Given the description of an element on the screen output the (x, y) to click on. 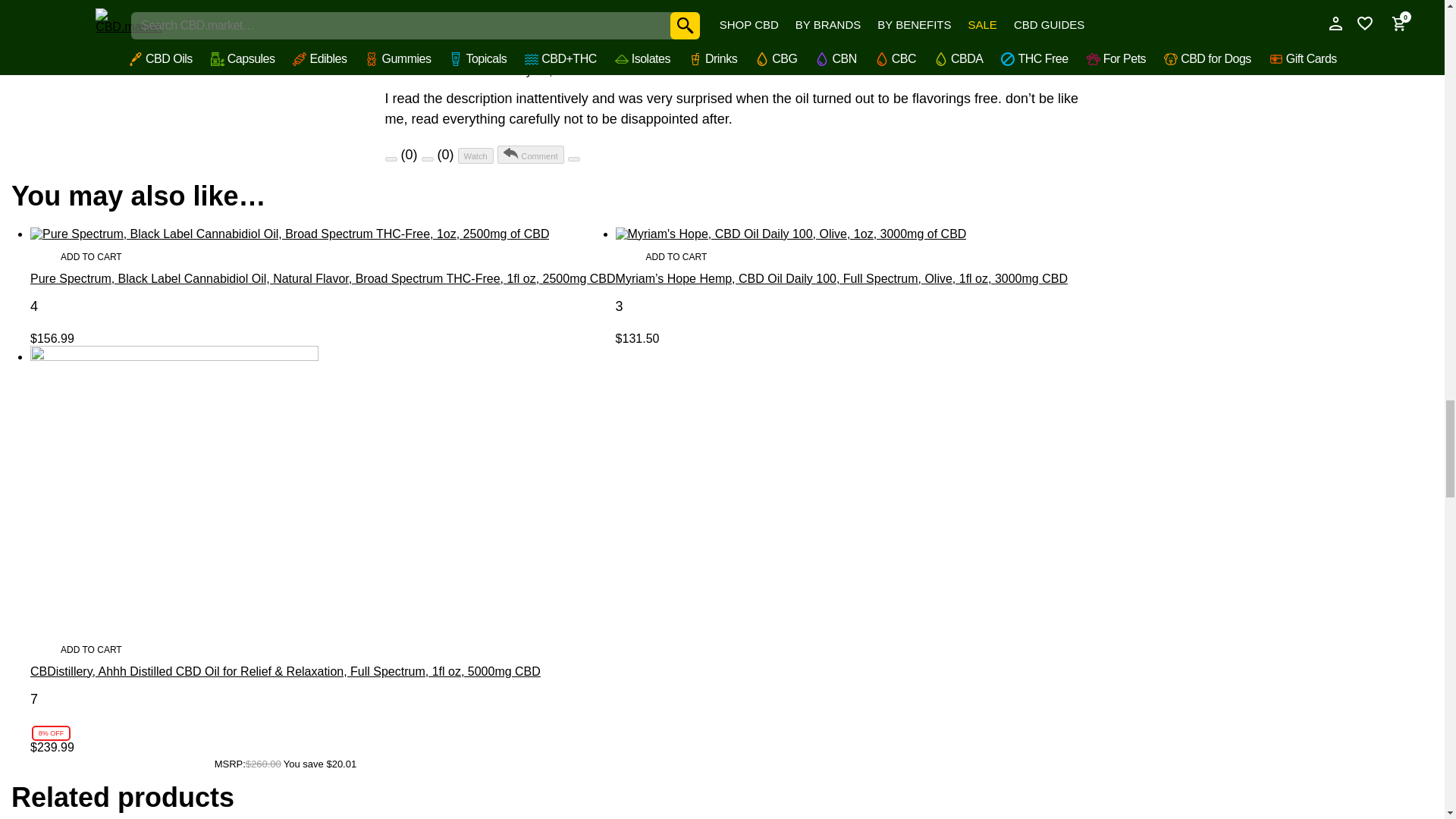
Upvote if this was helpful (391, 159)
Downvote if this was not helpful (427, 159)
